Given the description of an element on the screen output the (x, y) to click on. 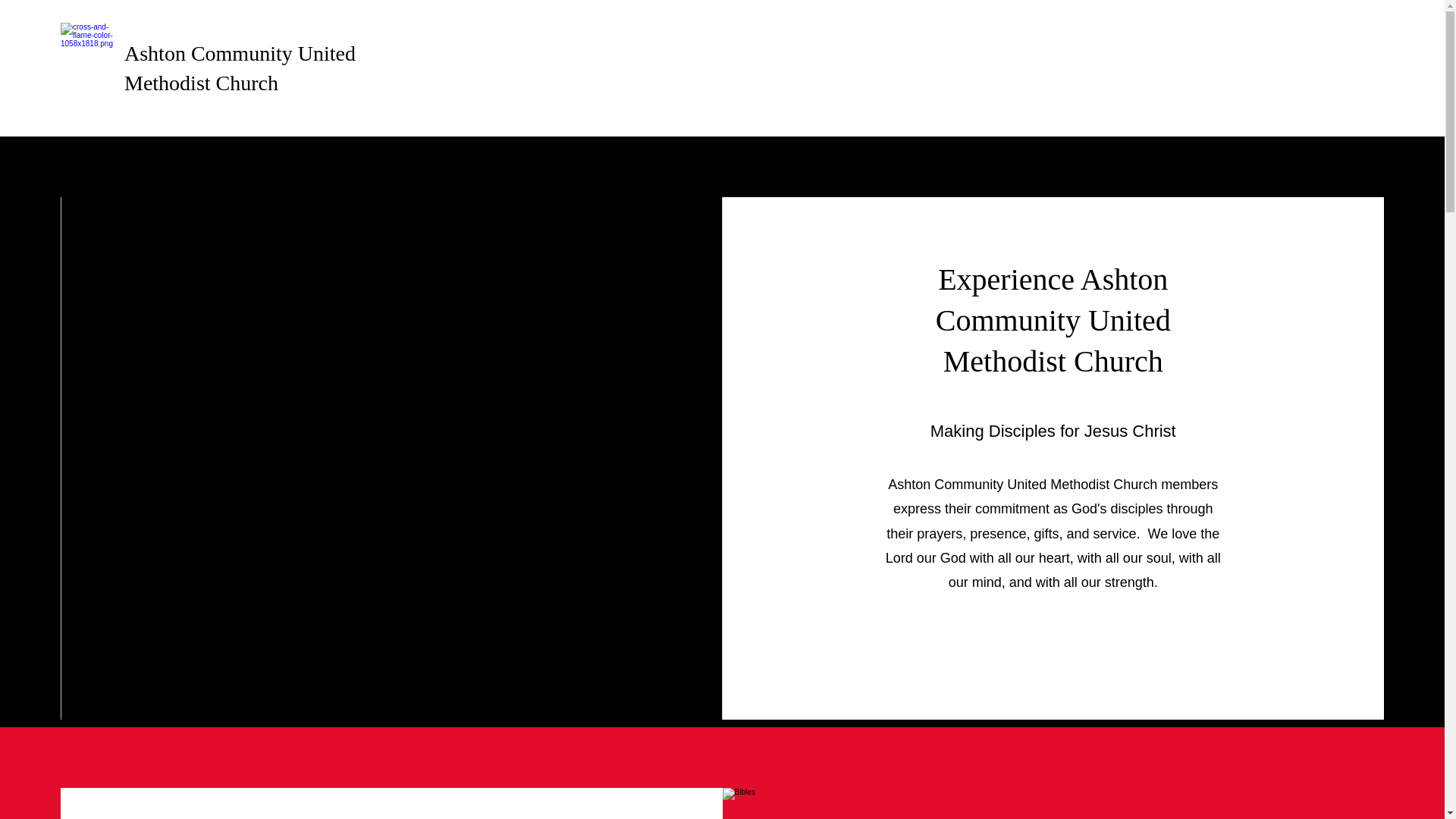
Ashton Community United Methodist Church (239, 68)
